Given the description of an element on the screen output the (x, y) to click on. 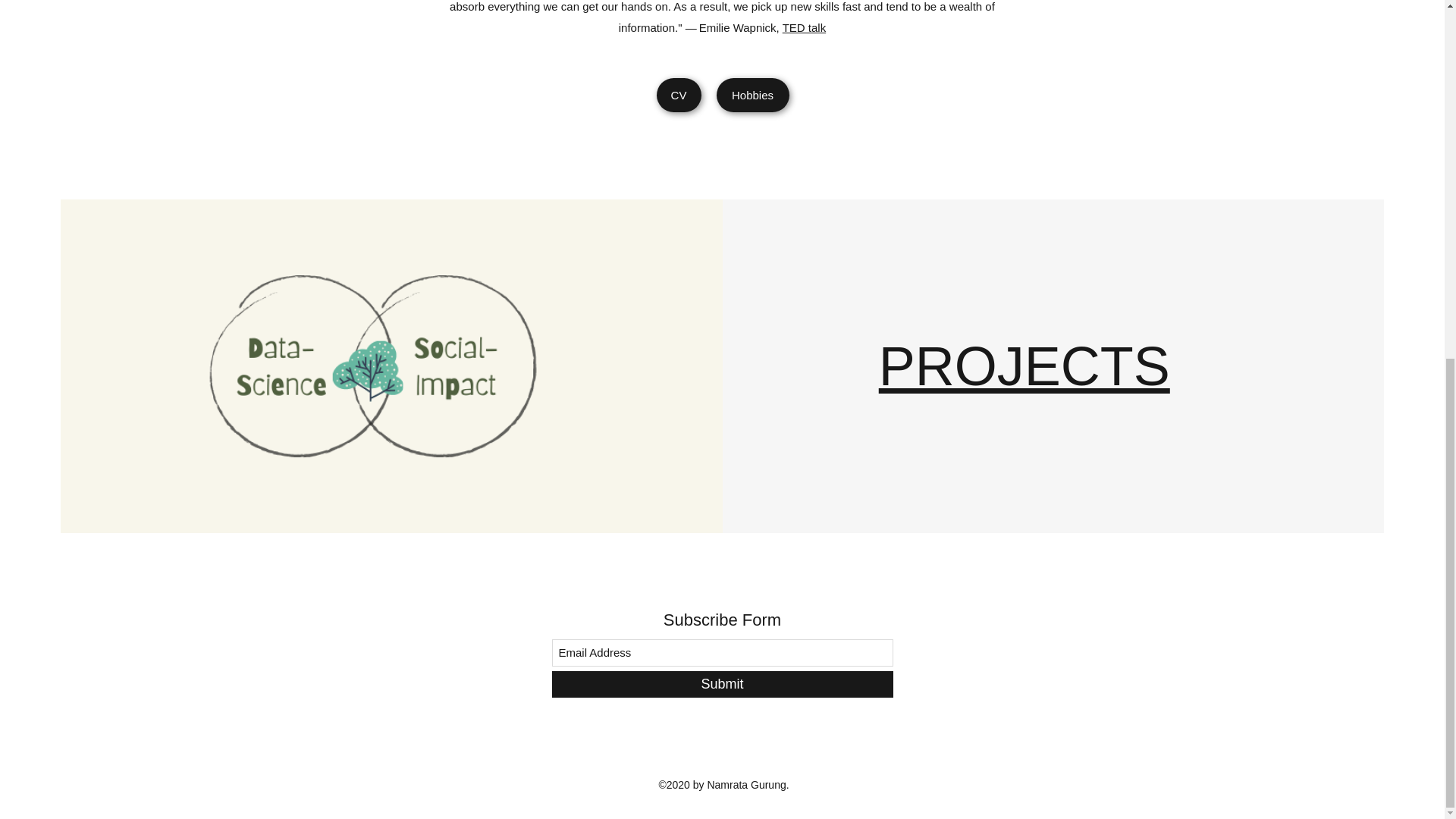
TED talk (805, 27)
Hobbies (752, 94)
PROJECTS (1024, 365)
CV (678, 94)
Submit (722, 683)
